Given the description of an element on the screen output the (x, y) to click on. 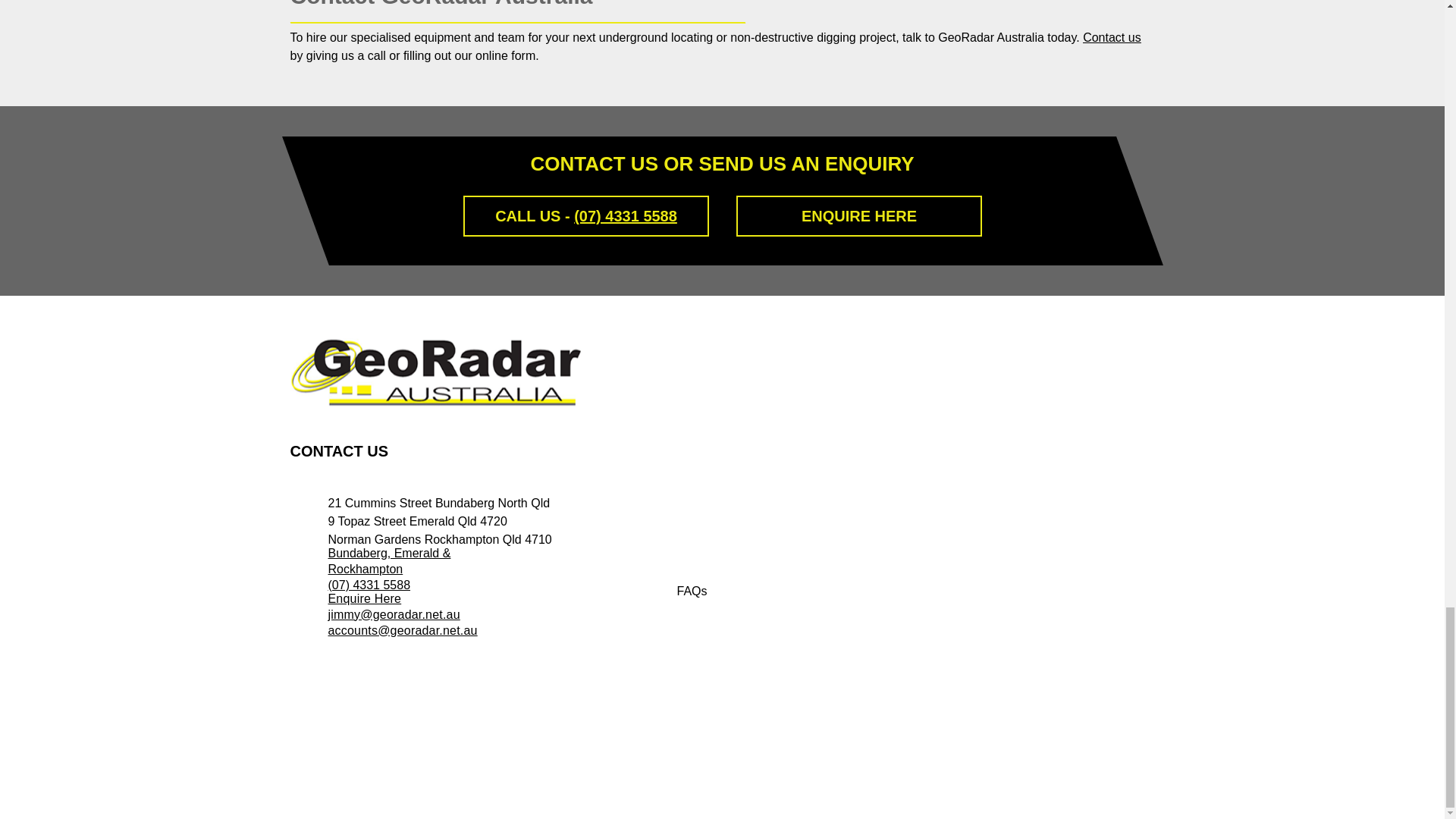
FAQs (752, 591)
ENQUIRE HERE (857, 216)
Contact us (1111, 37)
